Given the description of an element on the screen output the (x, y) to click on. 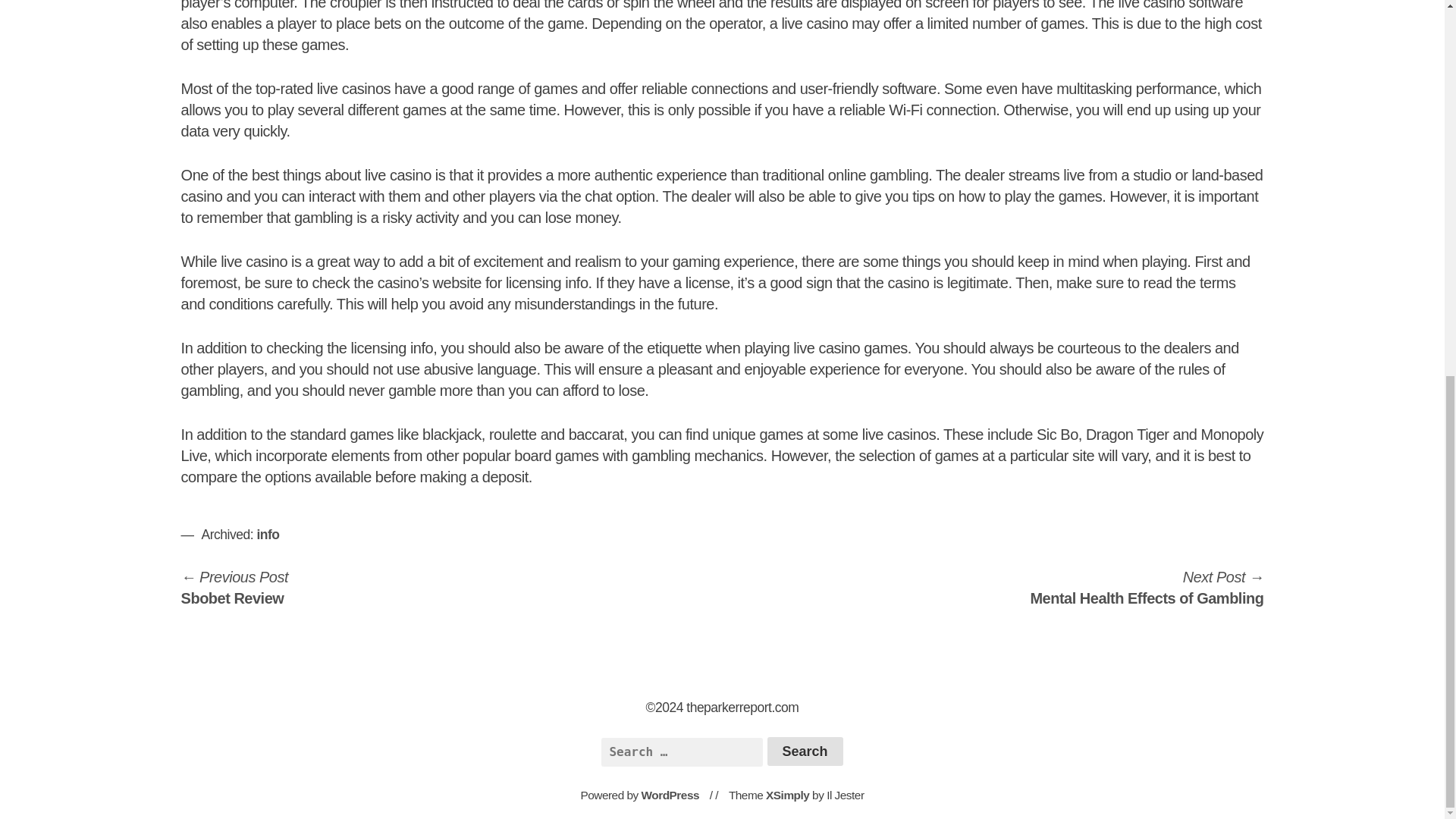
XSimply (787, 794)
Search (805, 751)
info (1146, 587)
WordPress (267, 534)
Search (670, 794)
Search (805, 751)
